Given the description of an element on the screen output the (x, y) to click on. 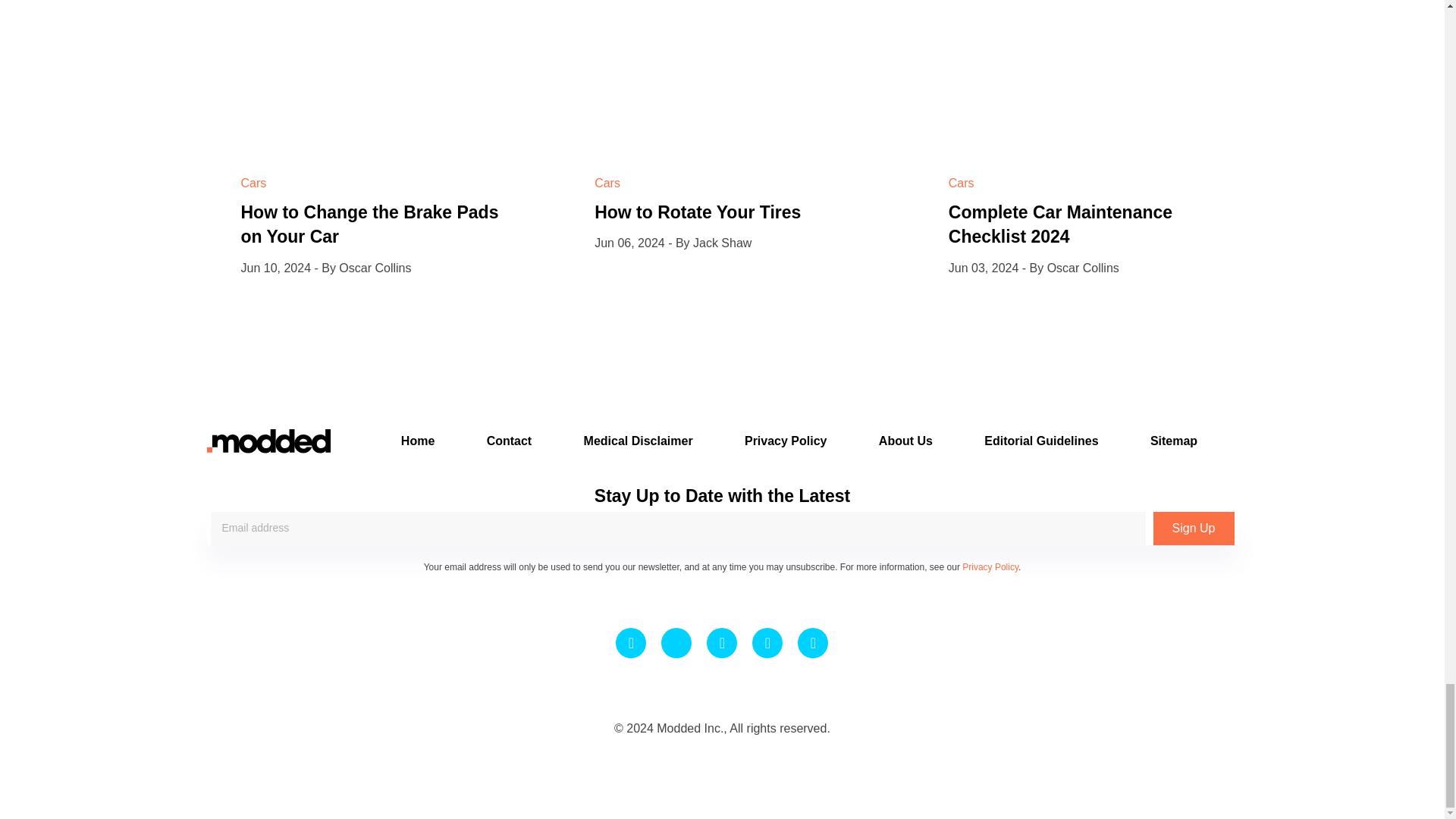
How to Rotate Your Tires (697, 211)
x-twitter-white (676, 642)
How to Change the Brake Pads on Your Car (370, 224)
Complete Car Maintenance Checklist 2024 (1060, 224)
